Given the description of an element on the screen output the (x, y) to click on. 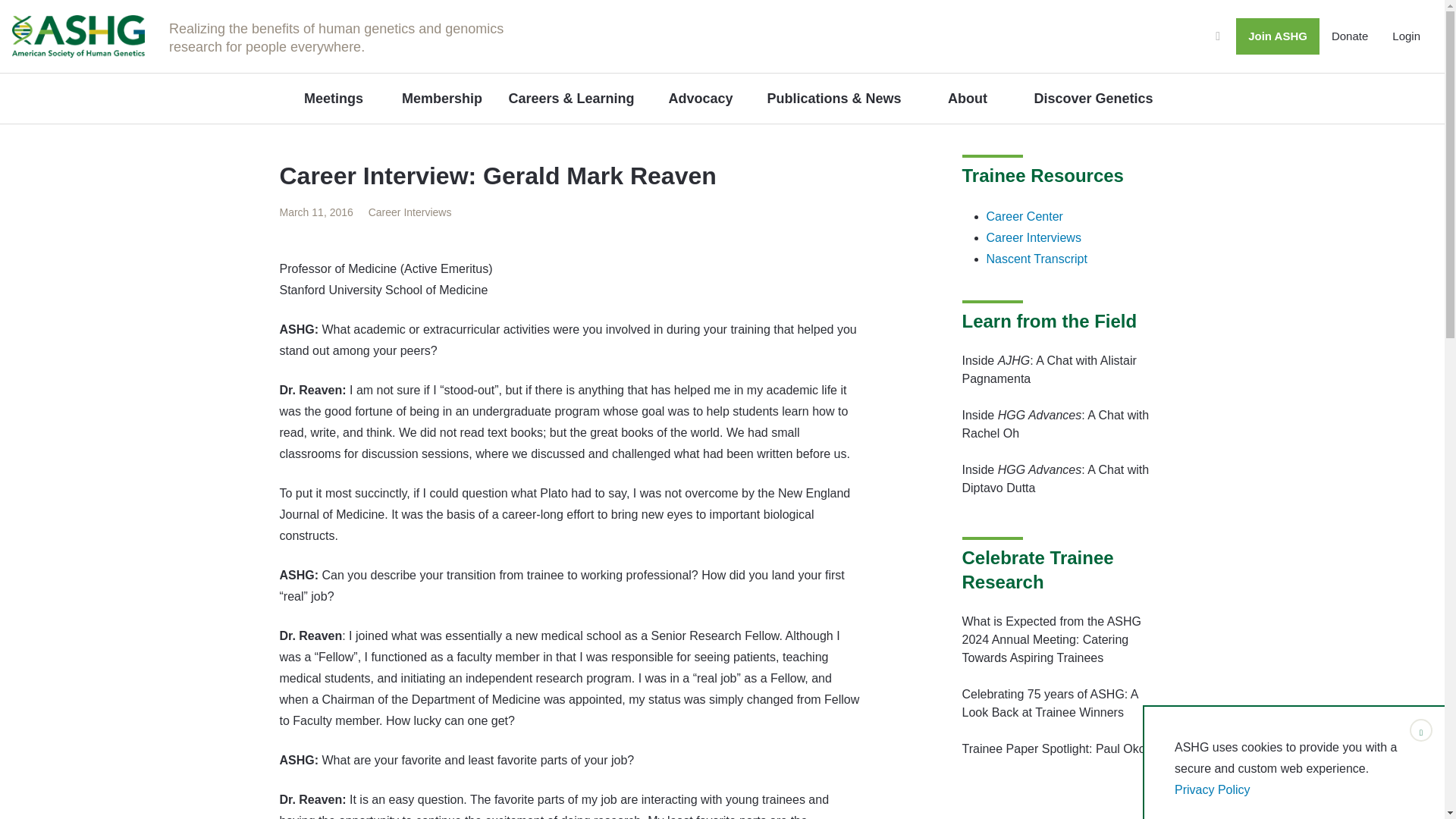
Advocacy (700, 98)
Meetings (333, 98)
Membership (441, 98)
Career Interview: Gerald Mark Reaven (317, 212)
